Given the description of an element on the screen output the (x, y) to click on. 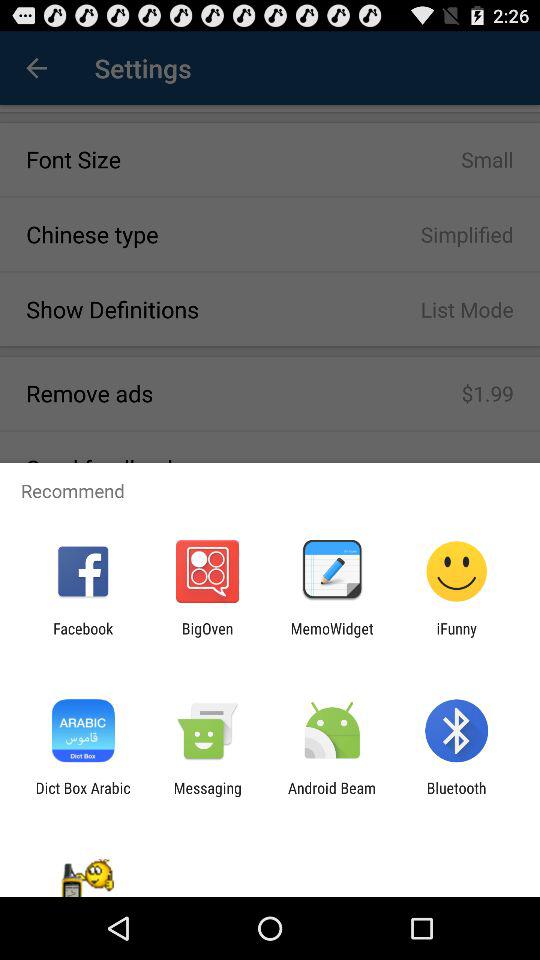
tap the ifunny item (456, 637)
